Given the description of an element on the screen output the (x, y) to click on. 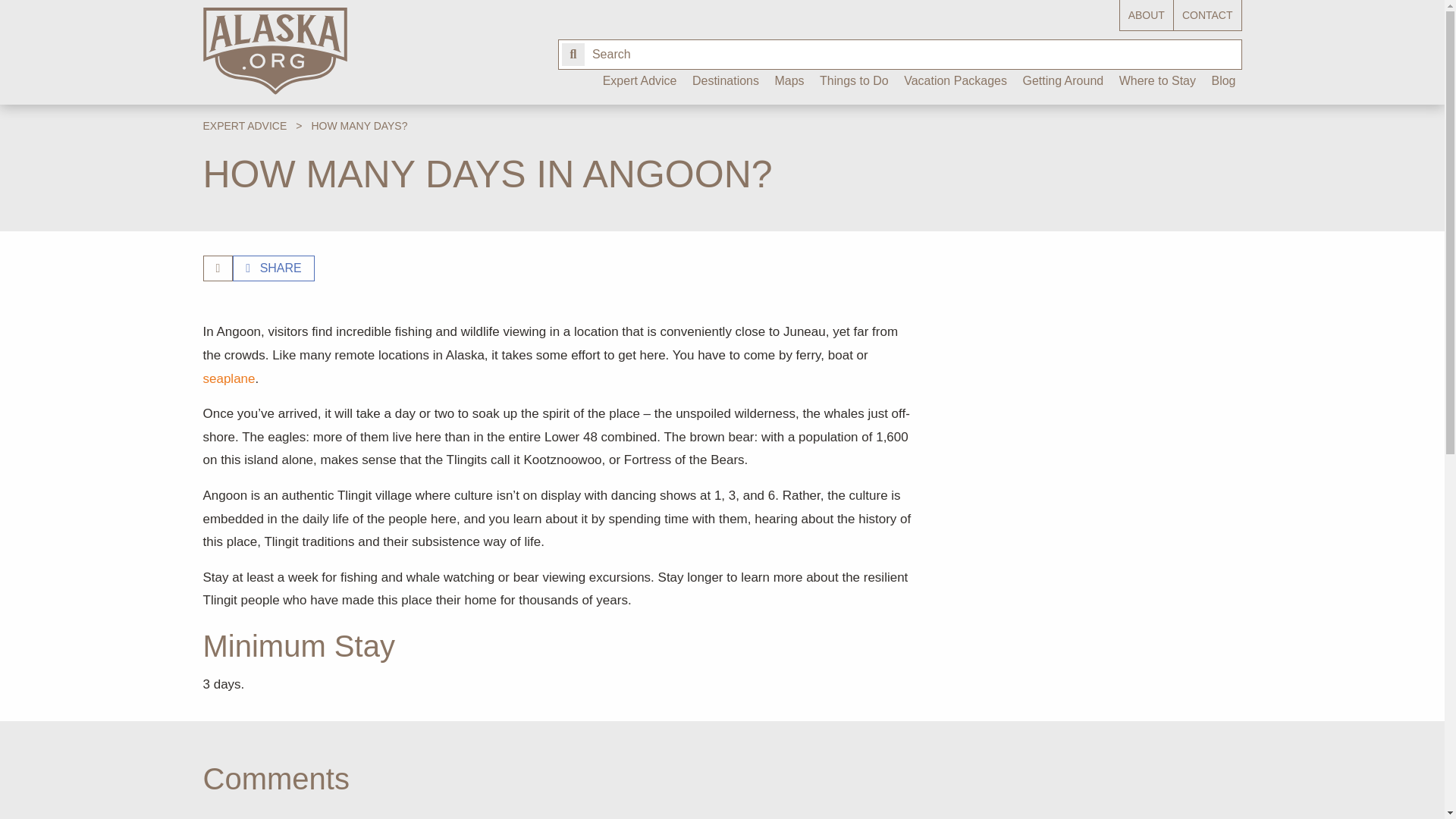
CONTACT (1207, 15)
ABOUT (1146, 15)
Destinations (725, 87)
Expert Advice (639, 87)
